Given the description of an element on the screen output the (x, y) to click on. 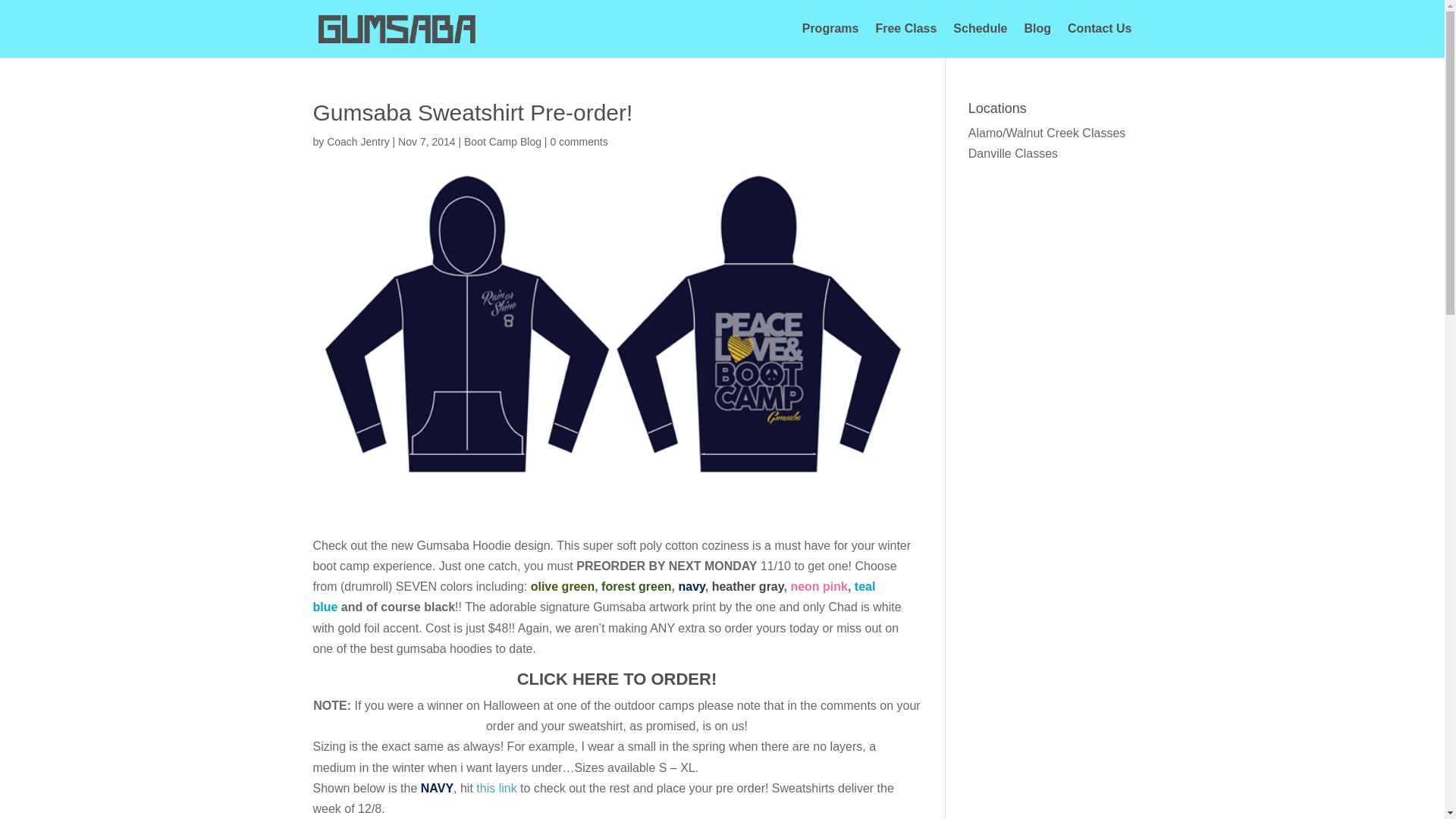
Schedule (980, 40)
Contact Us (1099, 40)
0 comments (578, 141)
this link (496, 788)
CLICK HERE TO ORDER! (616, 678)
Coach Jentry (357, 141)
Programs (830, 40)
Posts by Coach Jentry (357, 141)
Danville Classes (1013, 153)
Boot Camp Blog (502, 141)
Free Class (905, 40)
